Given the description of an element on the screen output the (x, y) to click on. 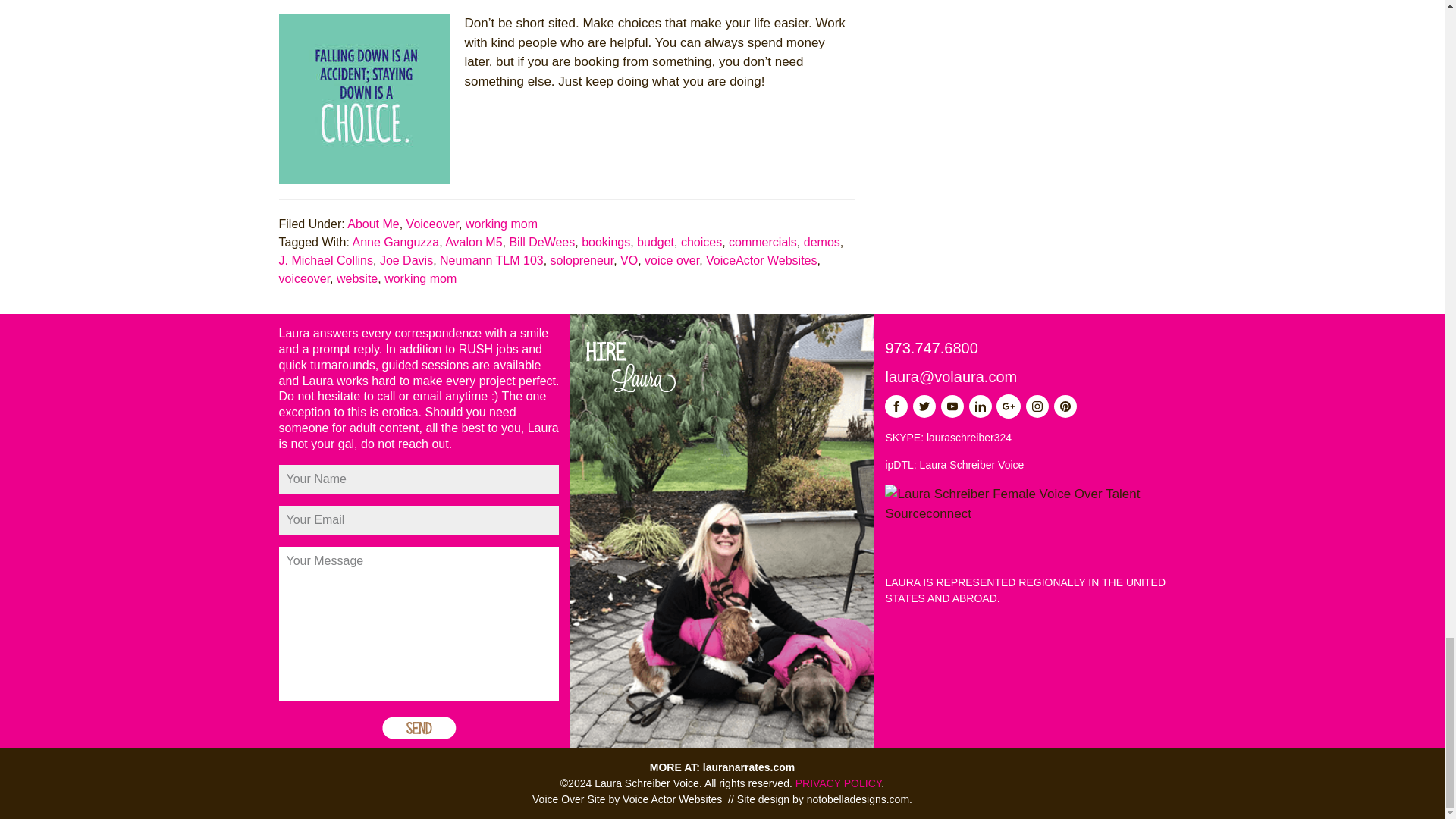
Youtube (951, 405)
twitter (924, 405)
facebook (896, 405)
